Given the description of an element on the screen output the (x, y) to click on. 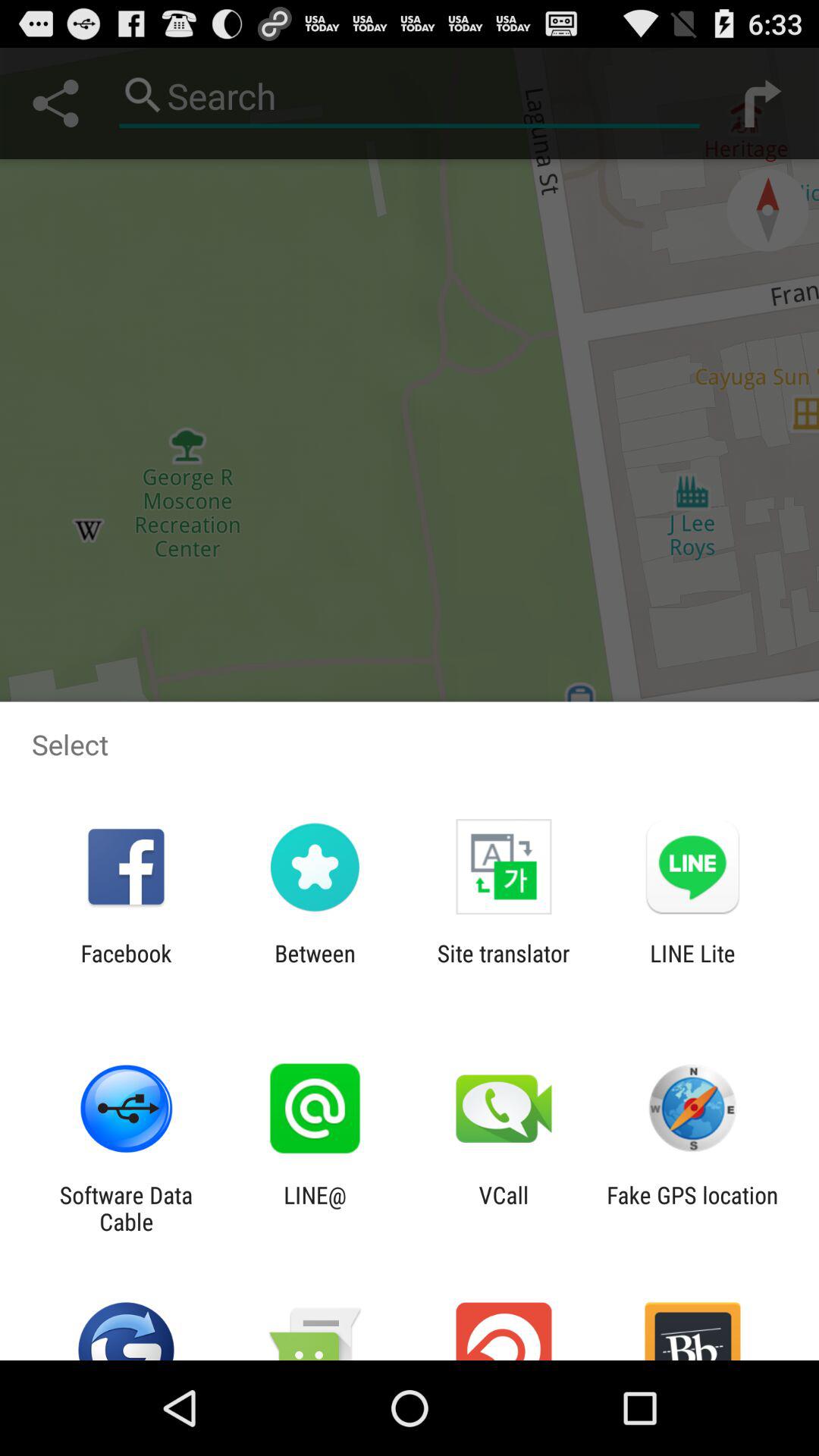
open the icon next to site translator (692, 966)
